Given the description of an element on the screen output the (x, y) to click on. 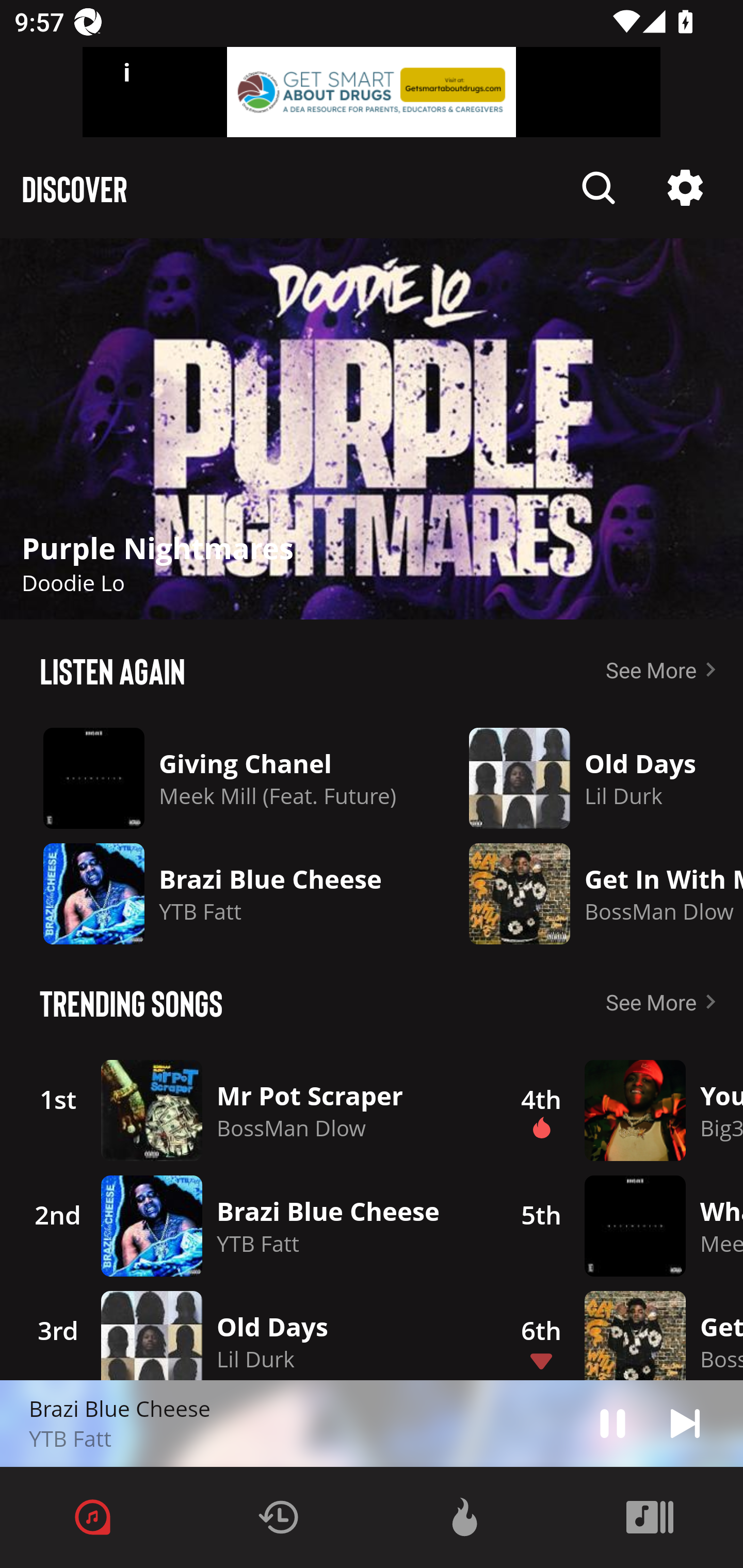
Description (598, 188)
Description (684, 188)
Description (371, 428)
See More (664, 669)
Description Giving Chanel Meek Mill (Feat. Future) (219, 778)
Description Old Days Lil Durk (591, 778)
Description Brazi Blue Cheese YTB Fatt (219, 893)
Description Get In With Me BossMan Dlow (591, 893)
See More (664, 1001)
1st Description Mr Pot Scraper BossMan Dlow (248, 1110)
4th Description Description You Thought Big30 (620, 1110)
2nd Description Brazi Blue Cheese YTB Fatt (248, 1226)
3rd Description Old Days Lil Durk (248, 1331)
Brazi Blue Cheese YTB Fatt Description Description (371, 1423)
Description (612, 1422)
Description (685, 1422)
